Given the description of an element on the screen output the (x, y) to click on. 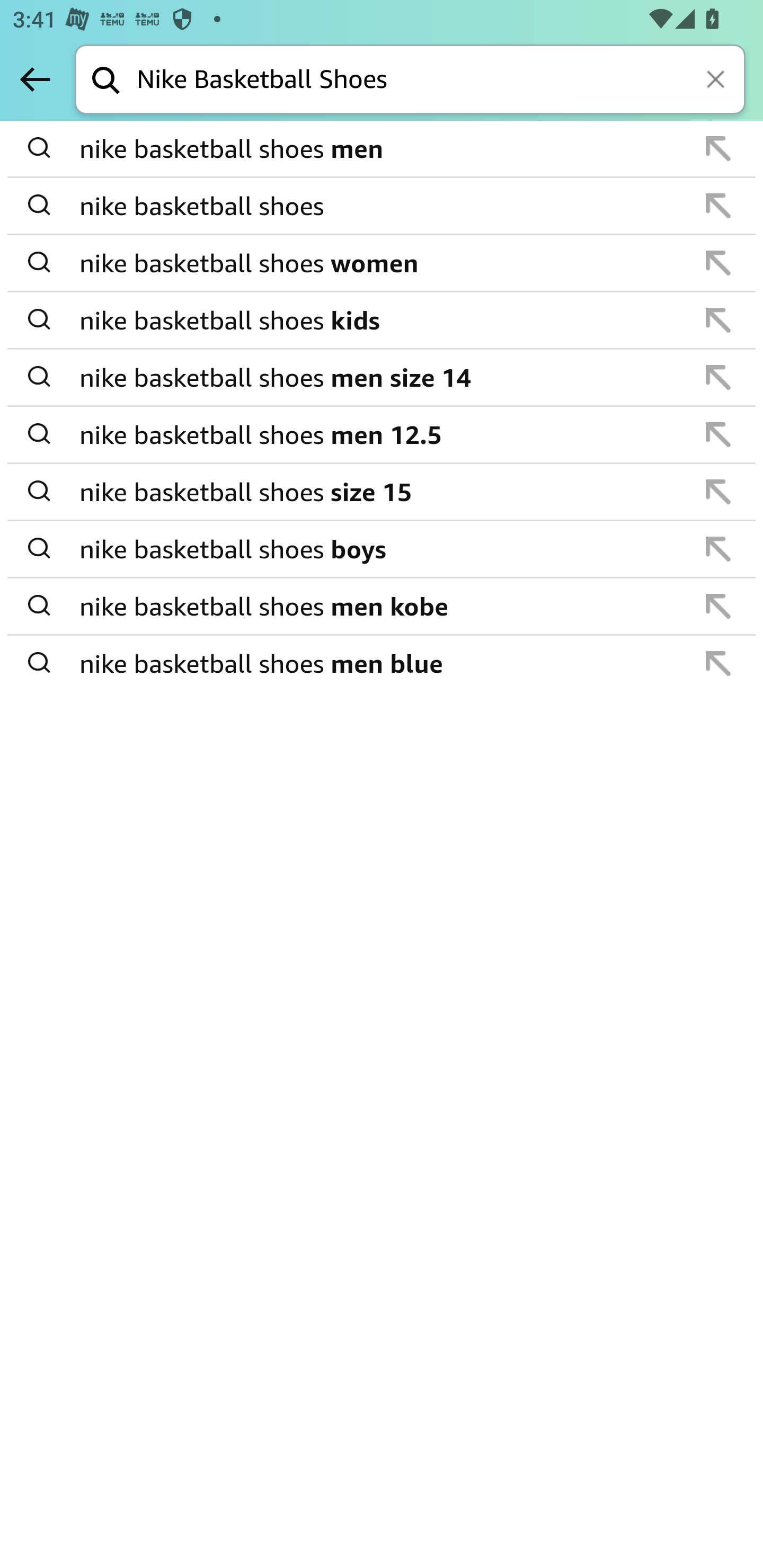
Nike Basketball Shoes (440, 80)
Clear search keywords (717, 80)
Back (35, 78)
append suggestion nike basketball shoes men (381, 149)
nike basketball shoes men (382, 149)
append suggestion (718, 147)
nike basketball shoes (382, 205)
append suggestion nike basketball shoes (381, 206)
append suggestion (718, 205)
nike basketball shoes women (382, 262)
append suggestion nike basketball shoes women (381, 263)
append suggestion (718, 262)
nike basketball shoes kids (382, 319)
append suggestion nike basketball shoes kids (381, 320)
append suggestion (718, 319)
nike basketball shoes men size 14 (382, 377)
append suggestion (718, 376)
nike basketball shoes men 12.5 (382, 434)
append suggestion nike basketball shoes men 12.5 (381, 435)
append suggestion (718, 434)
nike basketball shoes size 15 (382, 491)
append suggestion nike basketball shoes size 15 (381, 492)
append suggestion (718, 491)
nike basketball shoes boys (382, 548)
append suggestion nike basketball shoes boys (381, 549)
append suggestion (718, 548)
nike basketball shoes men kobe (382, 606)
append suggestion nike basketball shoes men kobe (381, 606)
append suggestion (718, 605)
nike basketball shoes men blue (382, 662)
append suggestion nike basketball shoes men blue (381, 663)
append suggestion (718, 663)
